Given the description of an element on the screen output the (x, y) to click on. 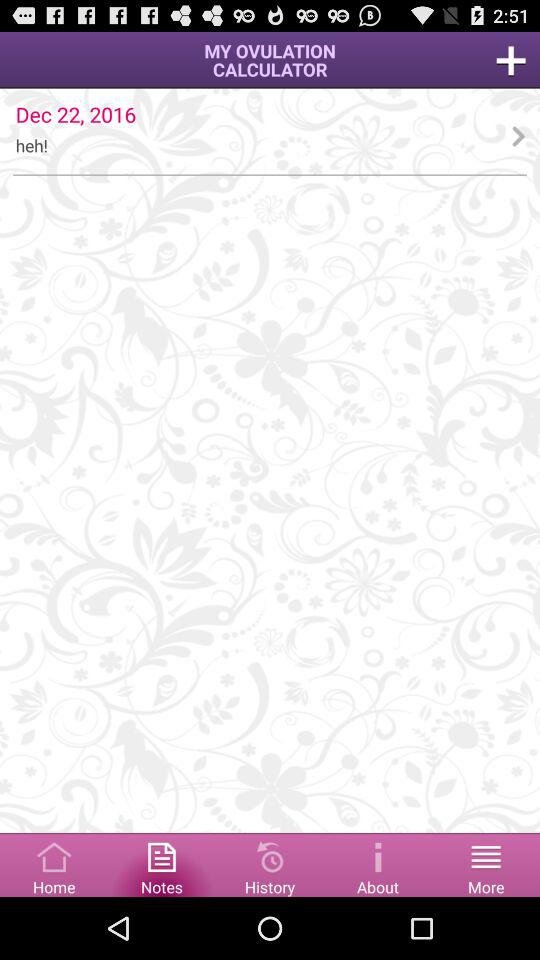
menu (54, 864)
